Given the description of an element on the screen output the (x, y) to click on. 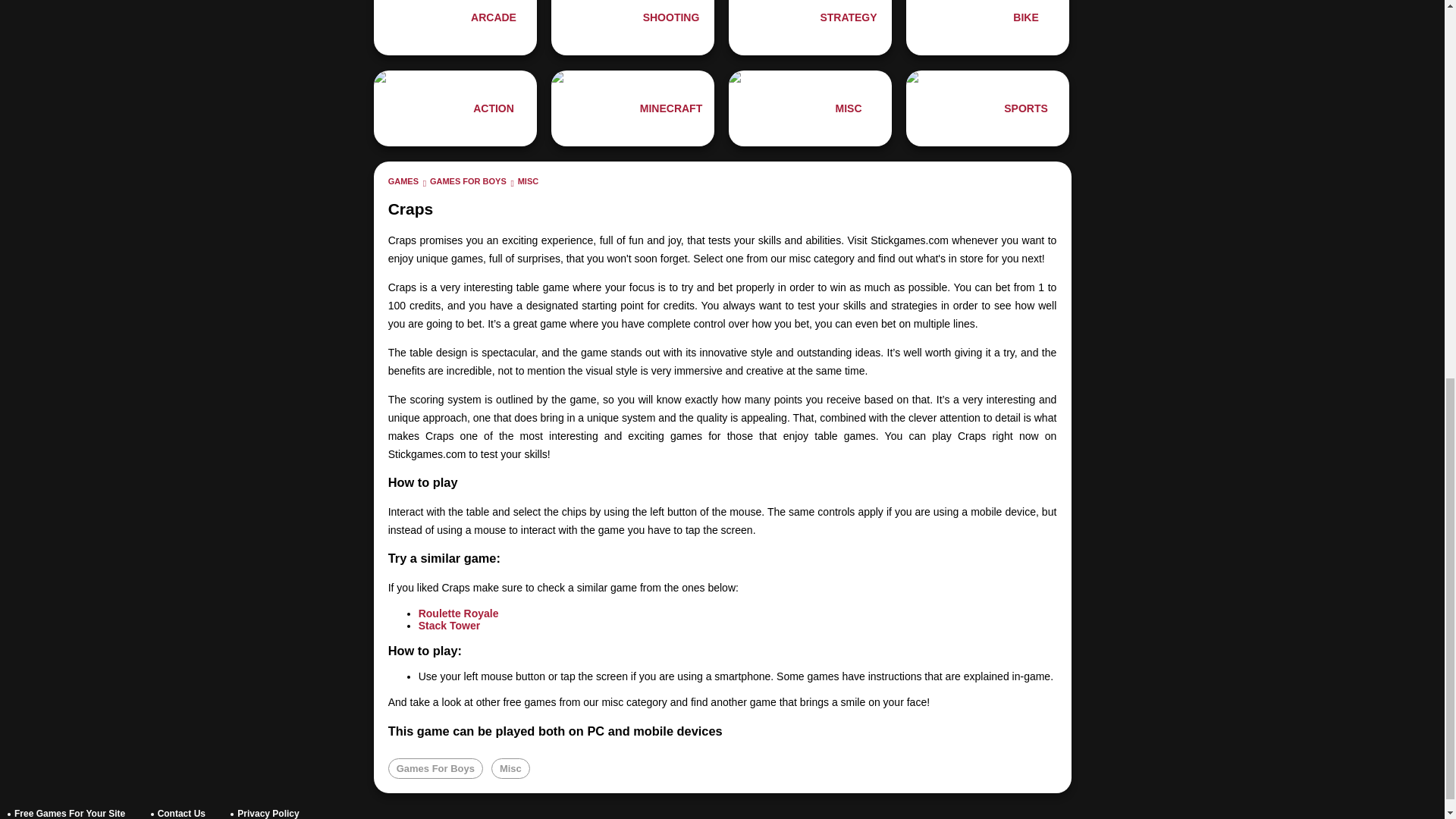
Bike (986, 27)
SPORTS (986, 108)
Arcade (455, 27)
BIKE (986, 27)
ARCADE (455, 27)
GAMES (403, 180)
STRATEGY (810, 27)
Roulette Royale (459, 613)
Action (455, 108)
MISC (528, 180)
